Given the description of an element on the screen output the (x, y) to click on. 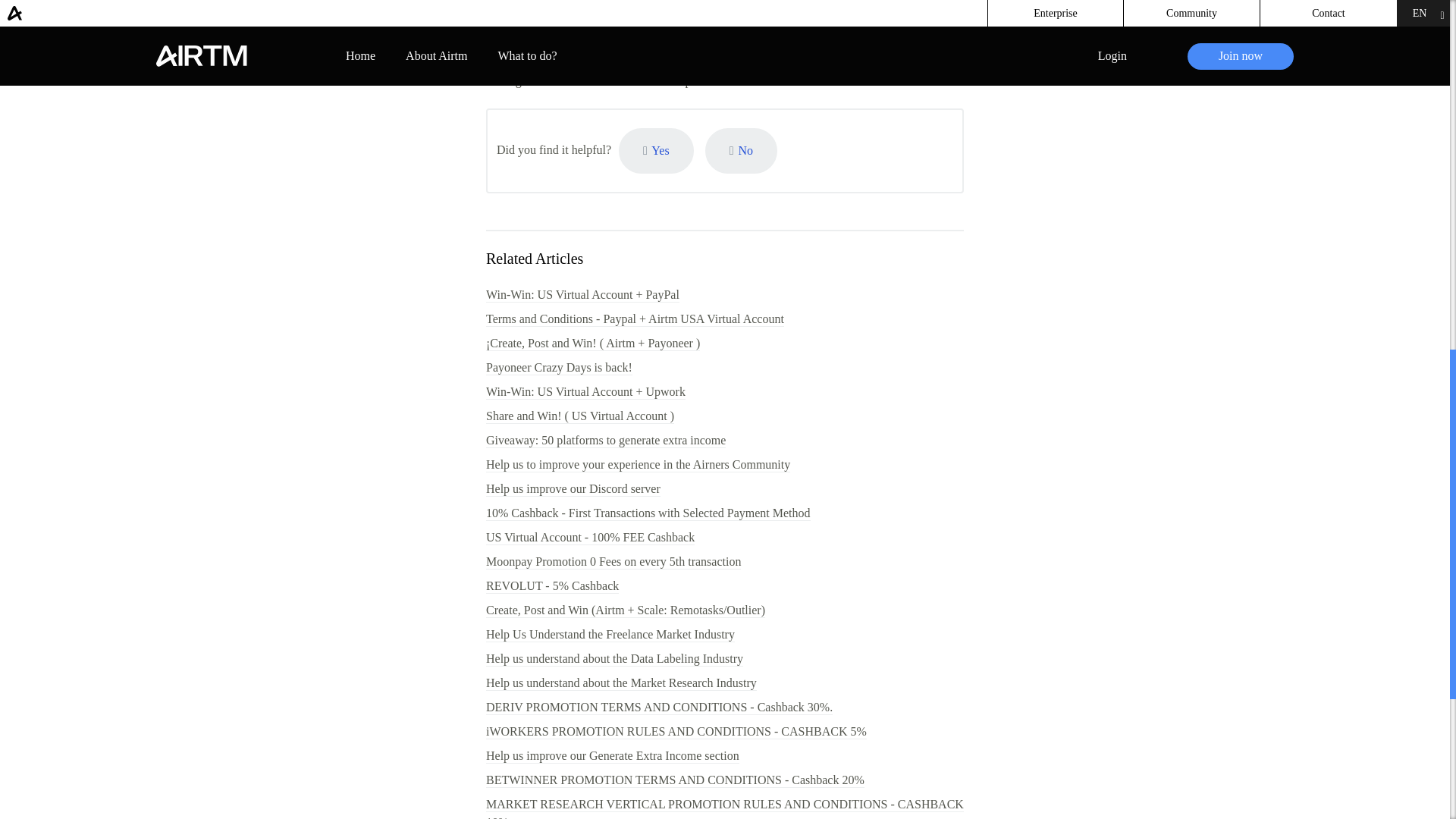
Payoneer Crazy Days is back! (558, 368)
